Given the description of an element on the screen output the (x, y) to click on. 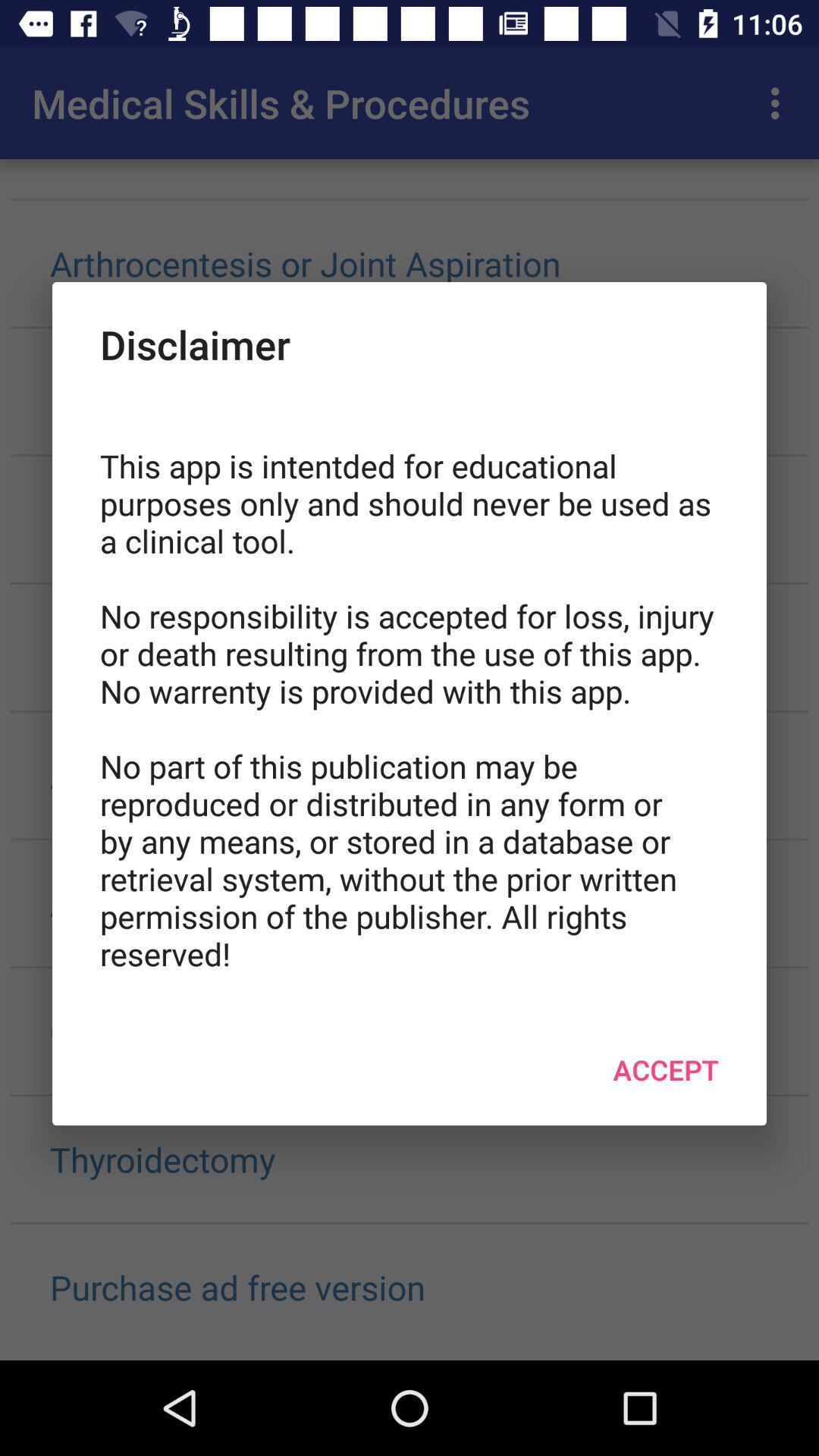
swipe until accept icon (665, 1069)
